Given the description of an element on the screen output the (x, y) to click on. 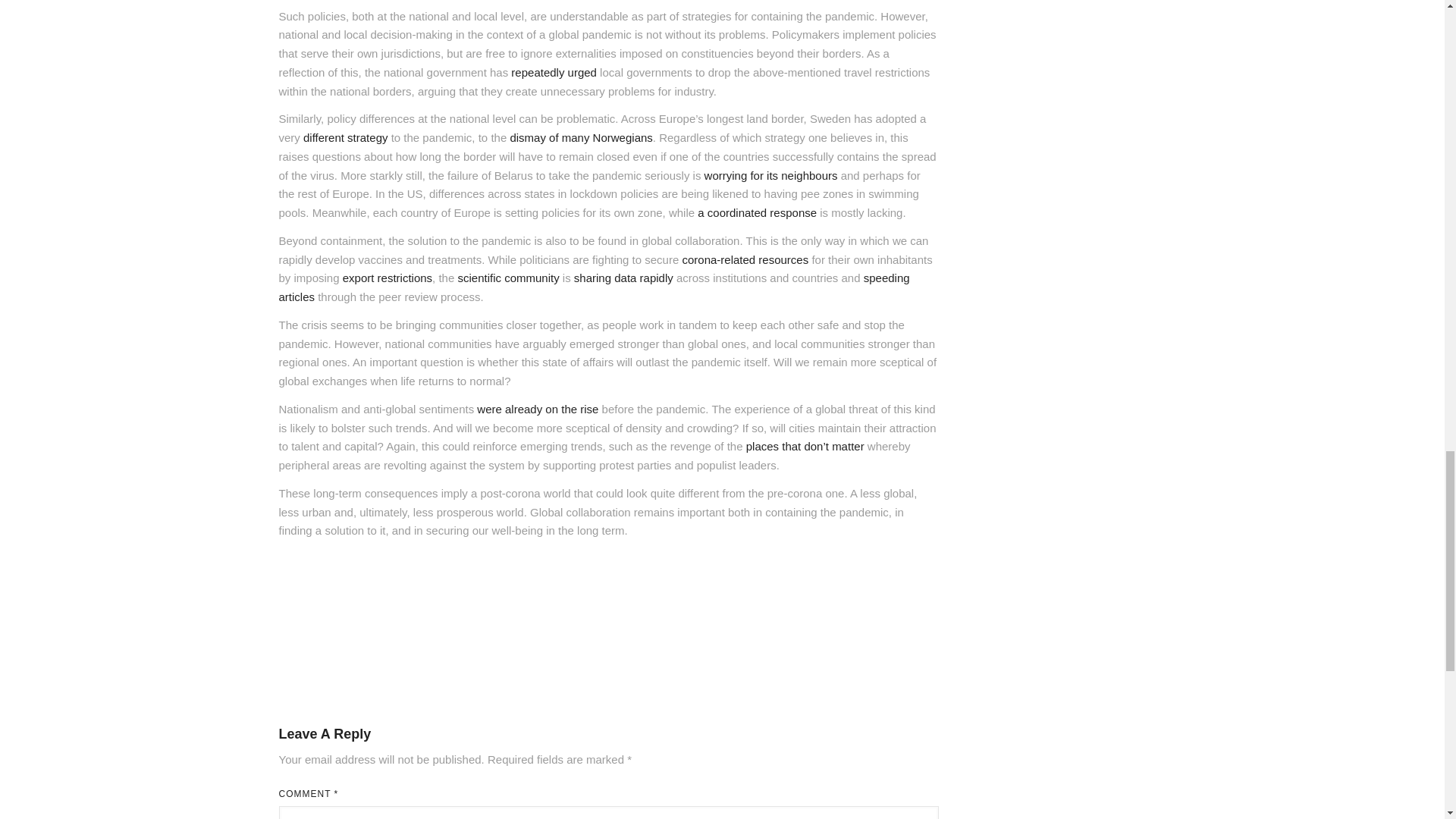
repeatedly urged (553, 72)
a coordinated response (756, 212)
scientific community (508, 277)
dismay of many Norwegians (580, 137)
worrying for its neighbours (771, 174)
corona-related resources (744, 259)
export restrictions (387, 277)
different strategy (344, 137)
